Given the description of an element on the screen output the (x, y) to click on. 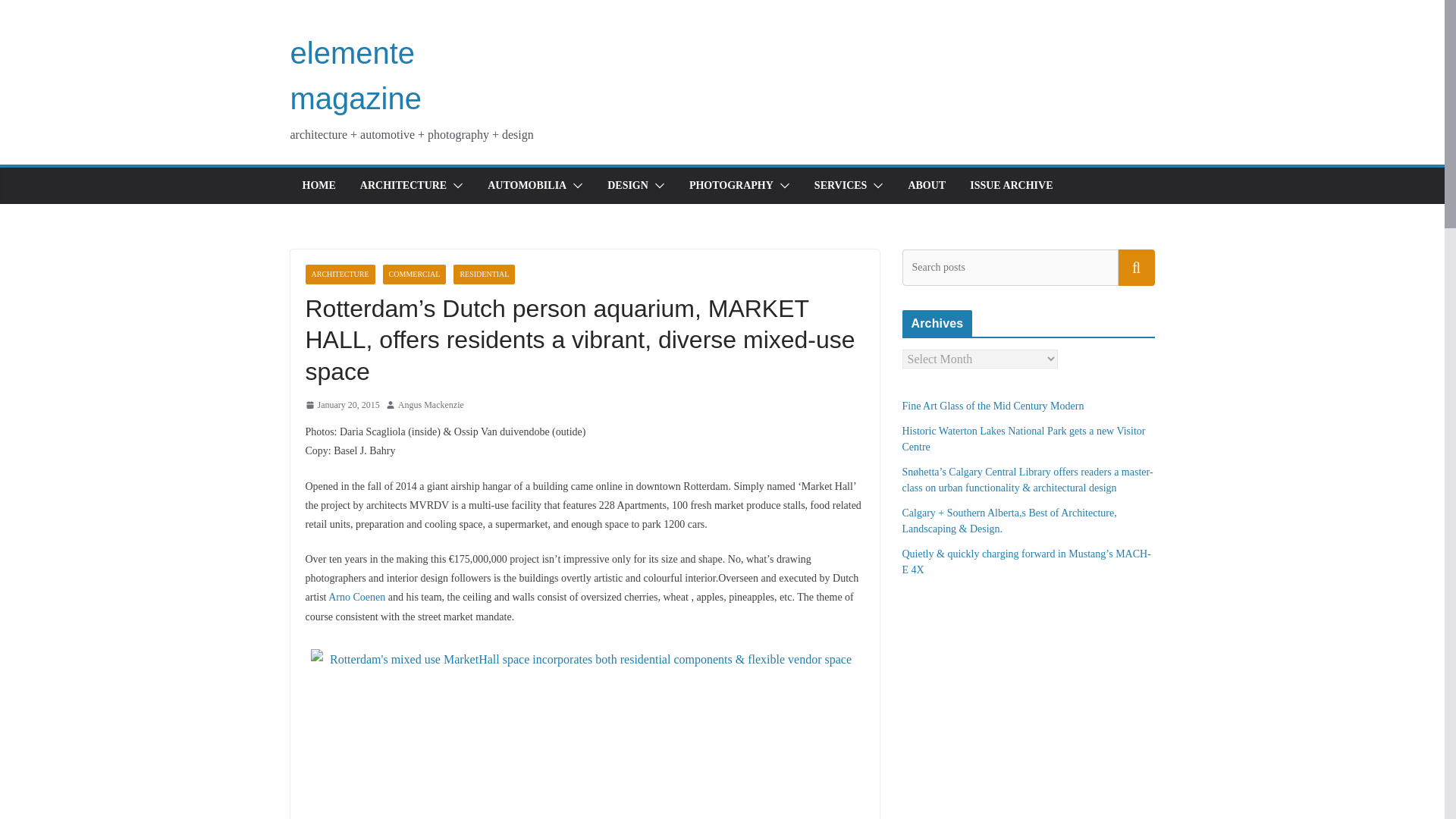
COMMERCIAL (414, 274)
DESIGN (627, 185)
elemente magazine (354, 75)
Angus Mackenzie (430, 405)
about (925, 185)
PHOTOGRAPHY (730, 185)
RESIDENTIAL (483, 274)
ISSUE ARCHIVE (1010, 185)
elemente magazine (354, 75)
ARCHITECTURE (402, 185)
Angus Mackenzie (430, 405)
Arno Coenen (358, 596)
arno (358, 596)
ARCHITECTURE (339, 274)
SERVICES (840, 185)
